Given the description of an element on the screen output the (x, y) to click on. 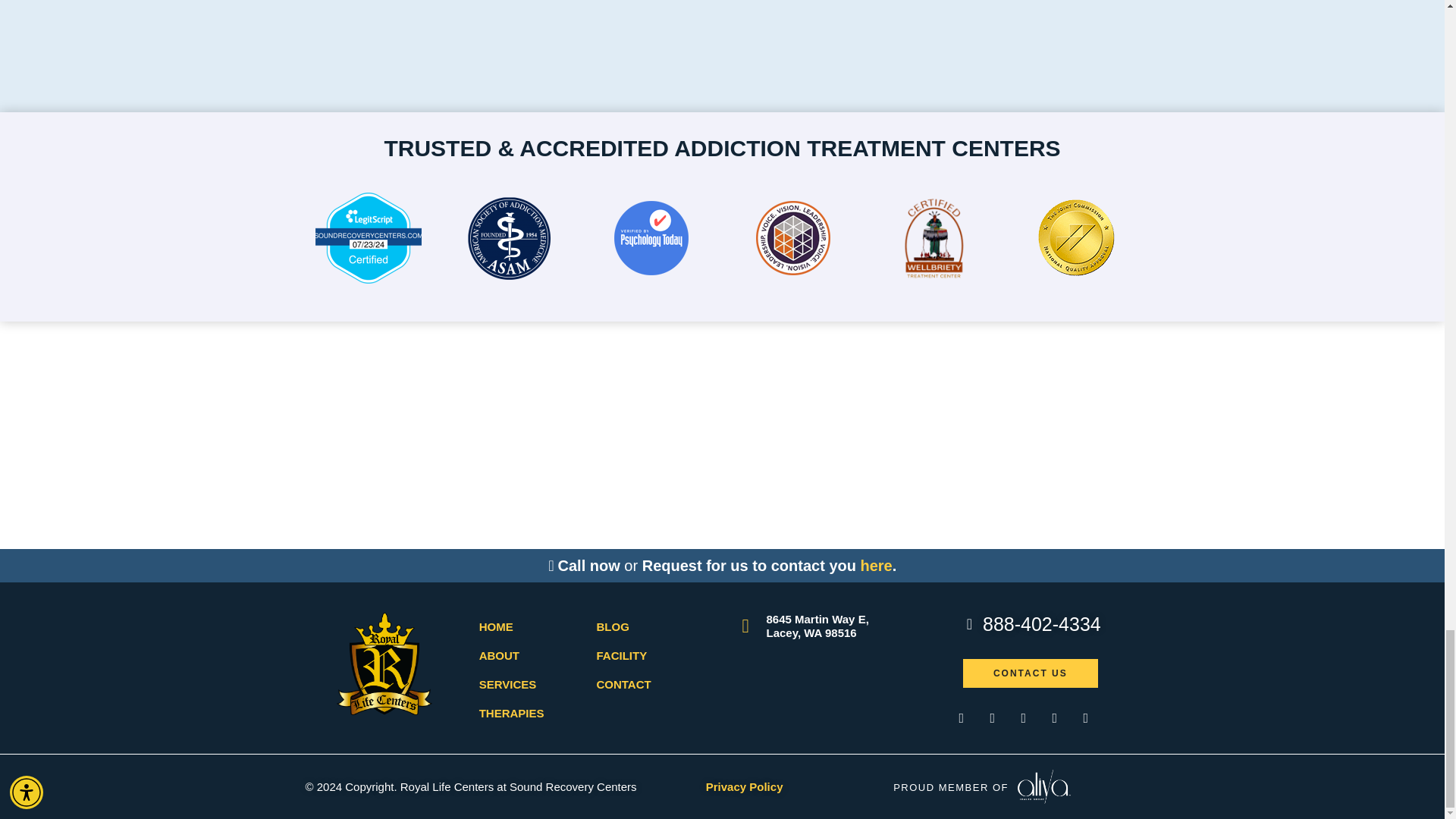
Verify LegitScript Approval (368, 278)
